Given the description of an element on the screen output the (x, y) to click on. 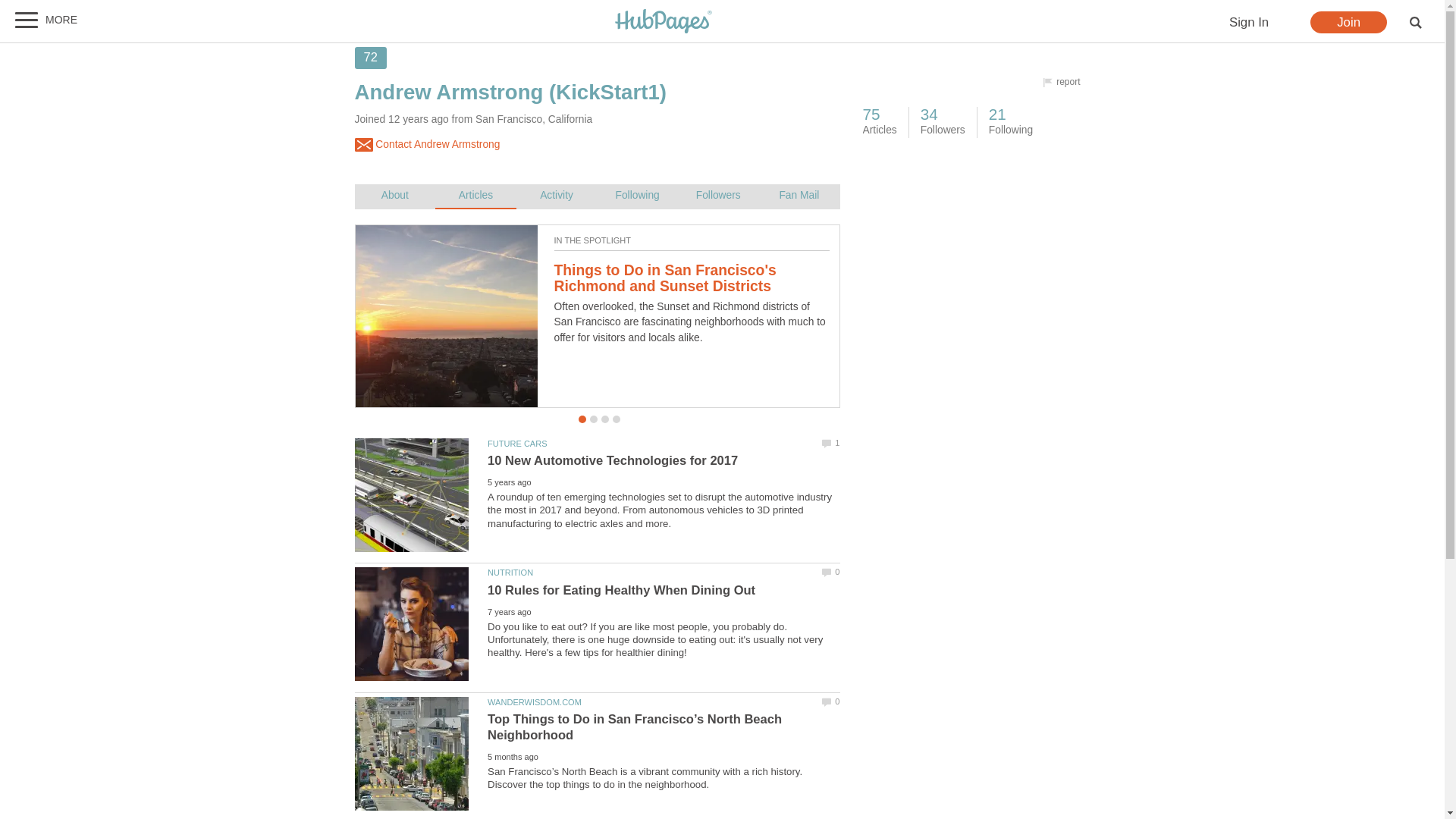
10 Rules for Eating Healthy When Dining Out (411, 623)
Hubber Score (371, 57)
report (1062, 83)
Contact Andrew Armstrong (427, 144)
Join (1348, 22)
NUTRITION (509, 572)
10 New Automotive Technologies for 2017 (411, 495)
10 Rules for Eating Healthy When Dining Out (621, 590)
WANDERWISDOM.COM (533, 701)
Sign In (1248, 22)
10 New Automotive Technologies for 2017 (612, 460)
HubPages (663, 21)
HubPages (663, 22)
